Given the description of an element on the screen output the (x, y) to click on. 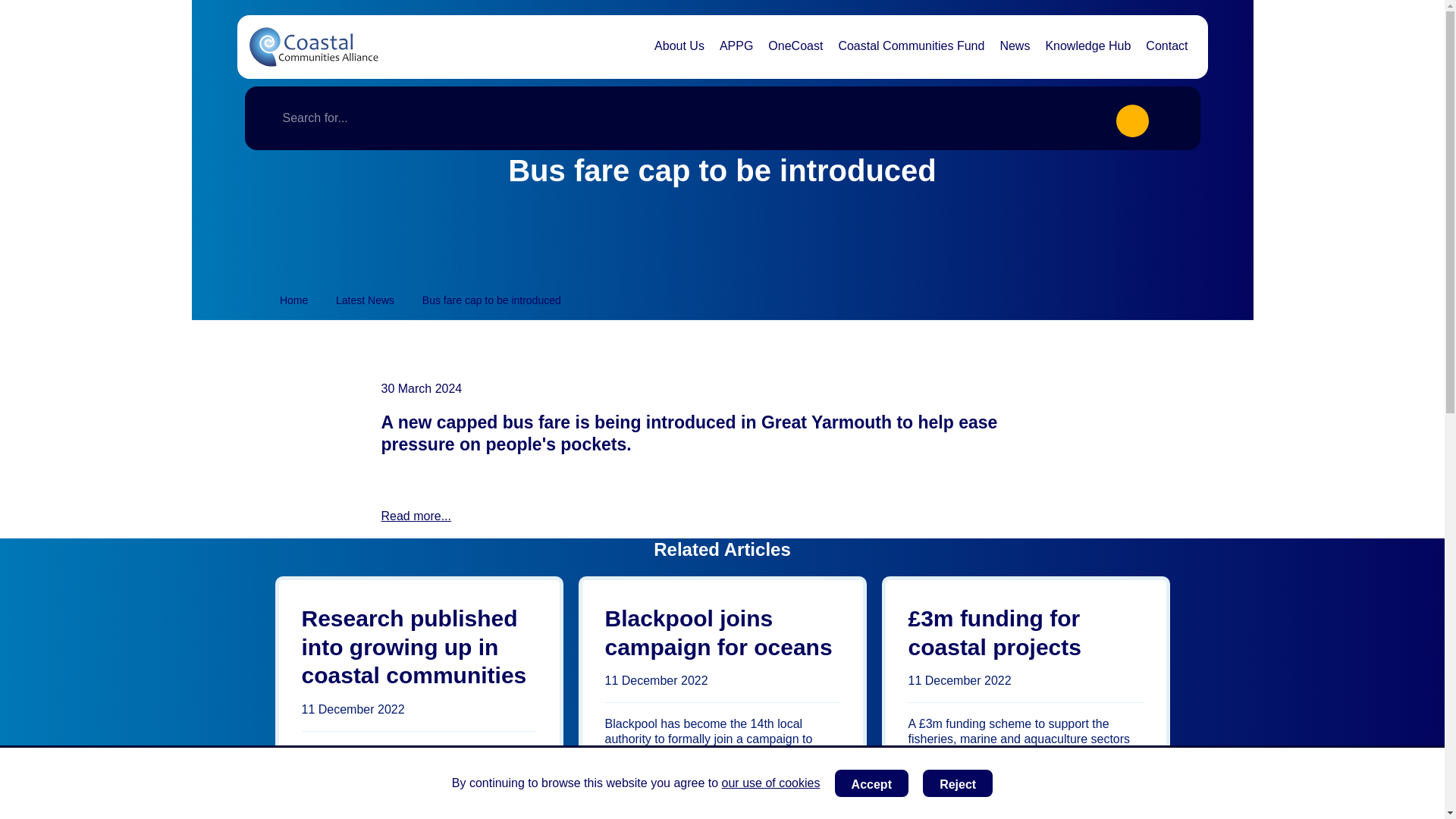
About Us (678, 46)
OneCoast (794, 46)
Read more... (414, 515)
Home (294, 300)
News (619, 810)
Contact (1166, 46)
Coastal Communities Fund (910, 46)
News (923, 799)
Latest News (364, 300)
